Given the description of an element on the screen output the (x, y) to click on. 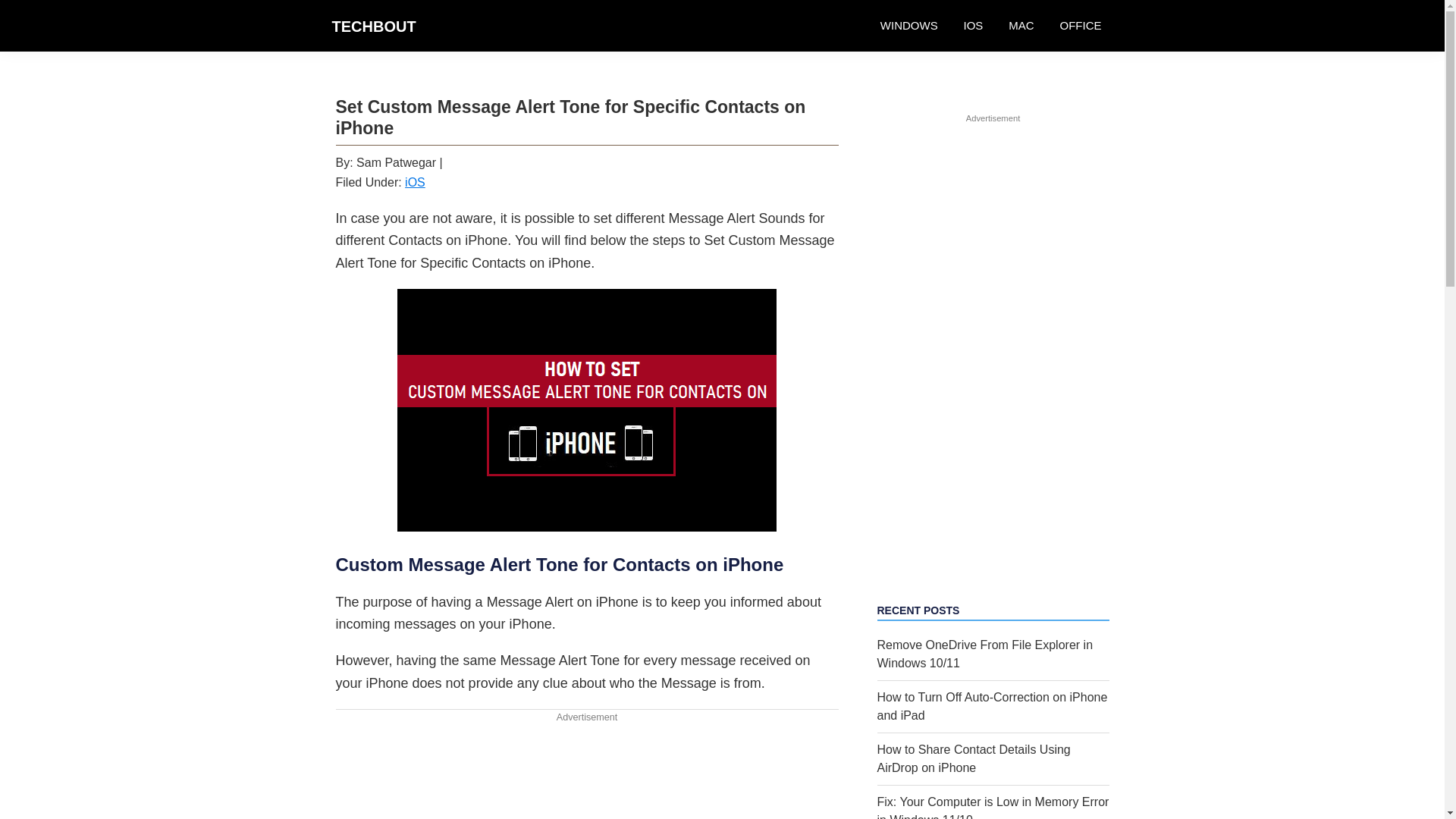
IOS (973, 25)
TECHBOUT (373, 26)
WINDOWS (909, 25)
Advertisement (586, 771)
iOS (414, 182)
How to Set Custom Message Alert Tone For Contacts on iPhone (586, 410)
How to Turn Off Auto-Correction on iPhone and iPad (991, 706)
How to Share Contact Details Using AirDrop on iPhone (973, 757)
OFFICE (1080, 25)
